Given the description of an element on the screen output the (x, y) to click on. 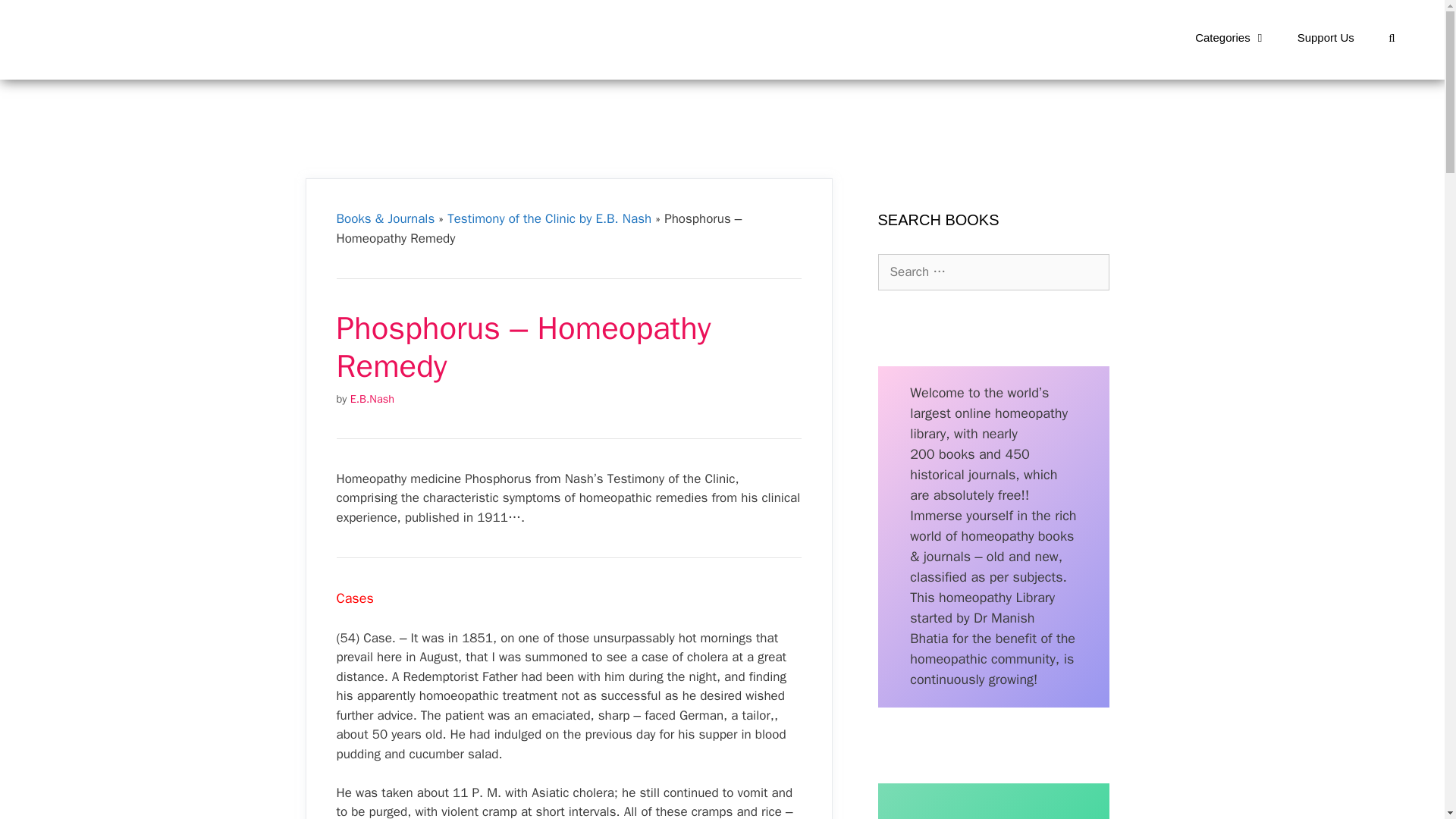
Search for: (993, 271)
Categories (1230, 37)
Support Us (1326, 37)
E.B.Nash (372, 398)
Search (36, 18)
View all posts by E.B.Nash (372, 398)
Testimony of the Clinic by E.B. Nash (548, 218)
